Given the description of an element on the screen output the (x, y) to click on. 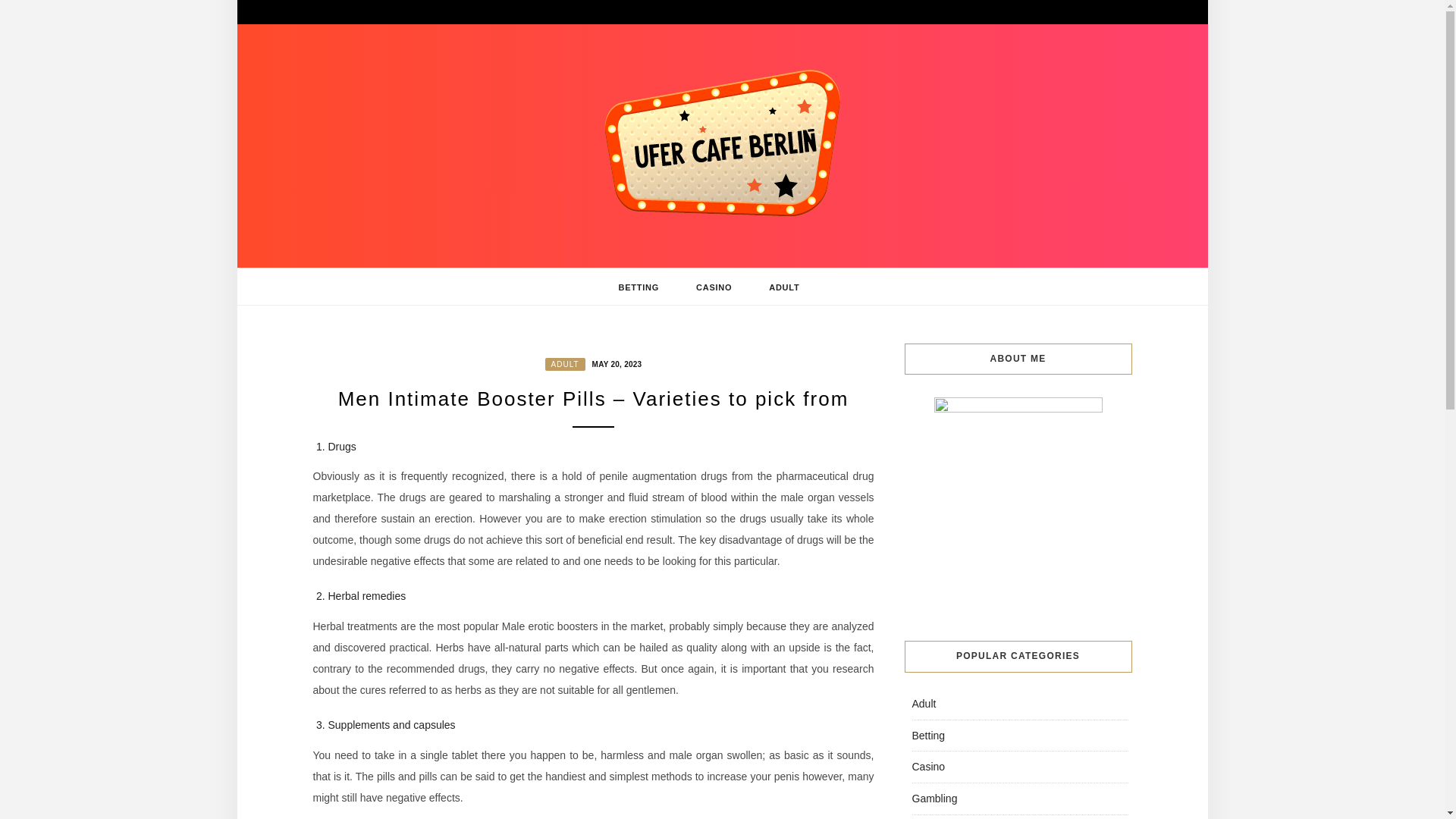
MAY 20, 2023 (615, 363)
BETTING (638, 287)
ADULT (784, 287)
UFER CAFE BERLIN (468, 261)
Adult (923, 703)
Betting (927, 735)
CASINO (714, 287)
ADULT (564, 364)
Gambling (933, 798)
Casino (927, 766)
